Given the description of an element on the screen output the (x, y) to click on. 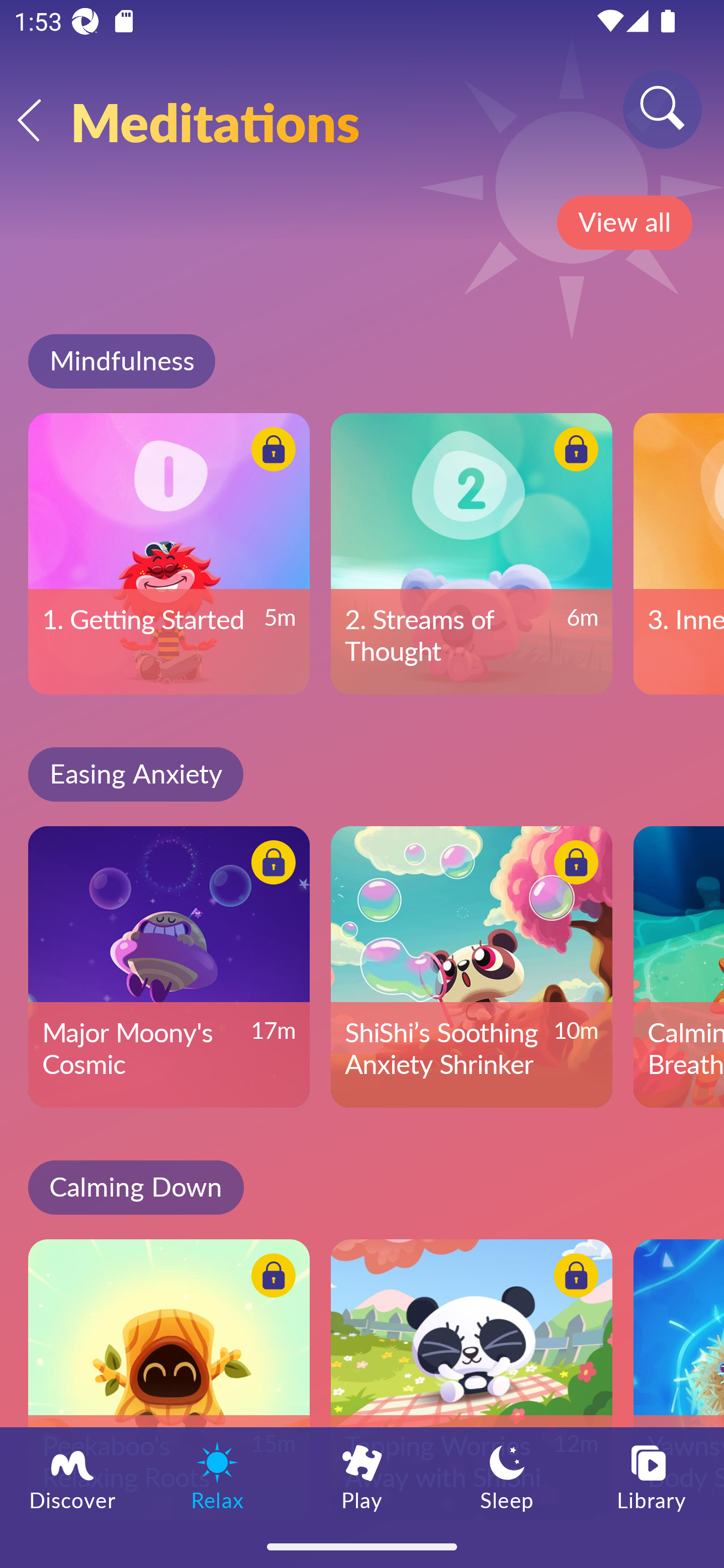
View all (624, 222)
Featured Content Button 1. Getting Started 5m (168, 553)
Button (269, 451)
Featured Content Button 2. Streams of Thought 6m (471, 553)
Button (573, 451)
Button (269, 865)
Button (573, 865)
Button (269, 1277)
Button (573, 1277)
Discover (72, 1475)
Play (361, 1475)
Sleep (506, 1475)
Library (651, 1475)
